Given the description of an element on the screen output the (x, y) to click on. 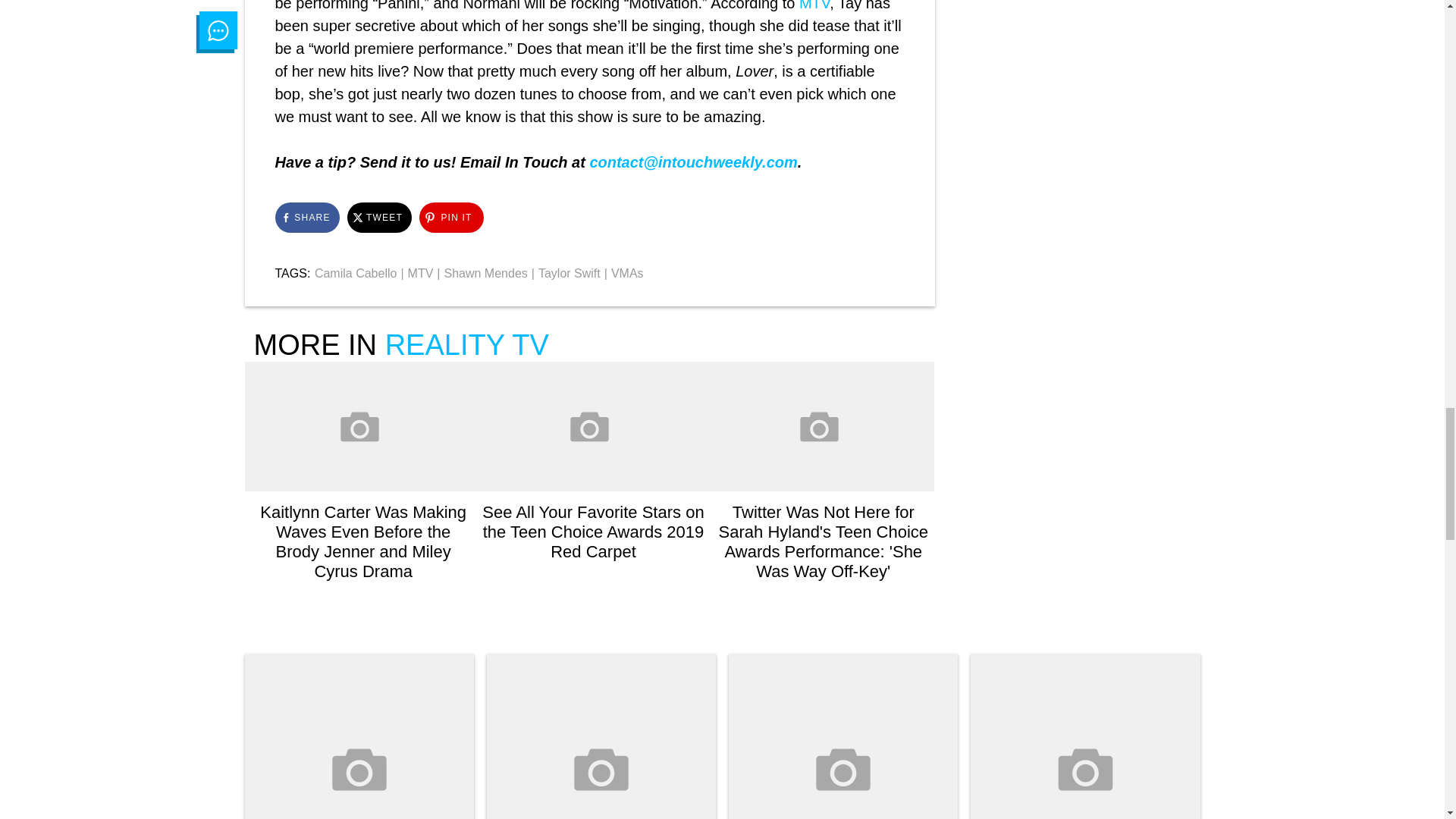
Click to share on Facebook (307, 217)
Click to share on Pinterest (451, 217)
Click to share on Twitter (379, 217)
